Given the description of an element on the screen output the (x, y) to click on. 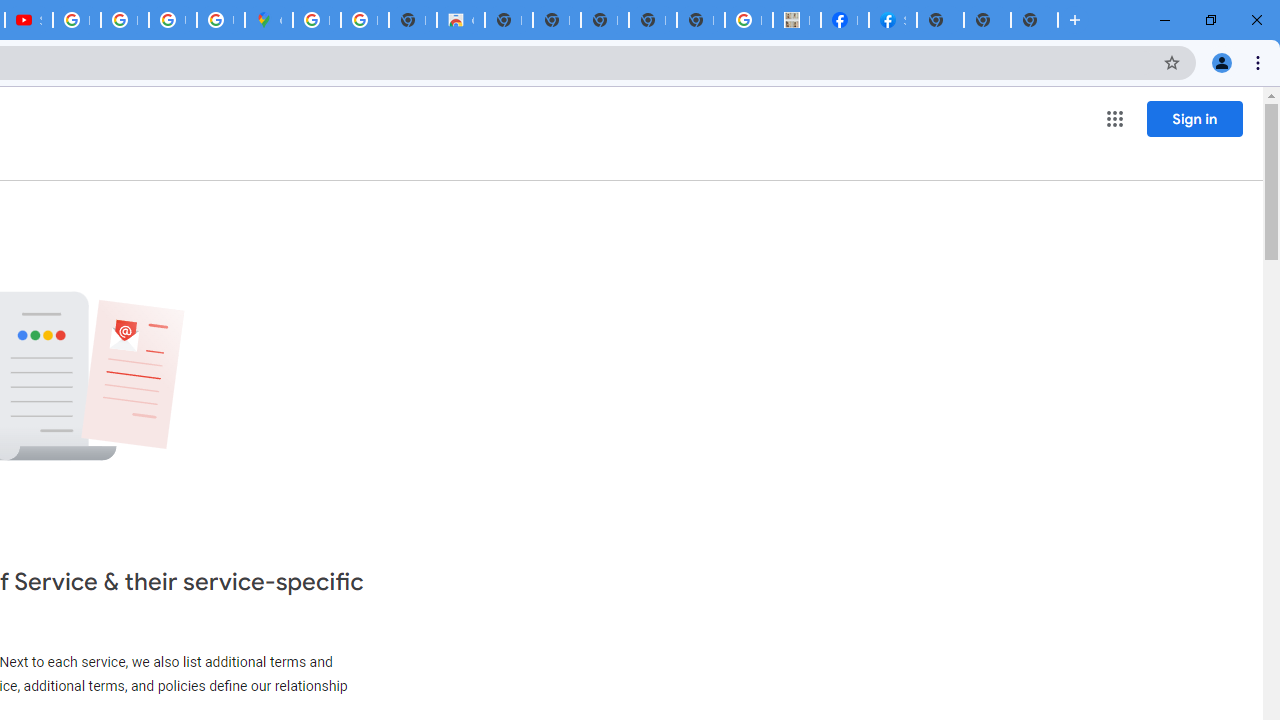
Chrome Web Store (460, 20)
Google Maps (268, 20)
Sign Up for Facebook (892, 20)
